Given the description of an element on the screen output the (x, y) to click on. 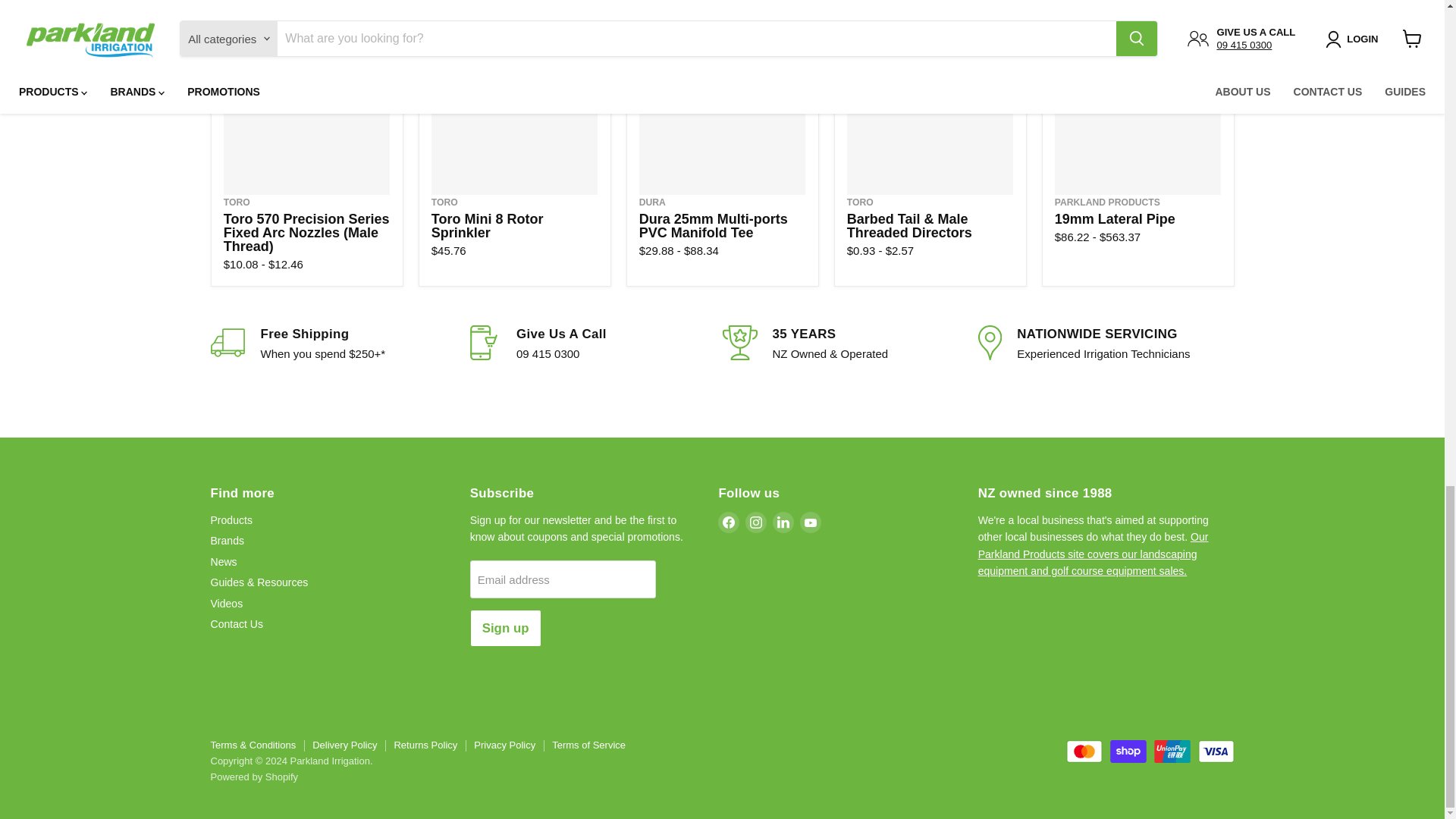
LinkedIn (783, 522)
Union Pay (1172, 751)
Parkland Products (1107, 202)
Toro (237, 202)
Instagram (756, 522)
Dura (652, 202)
Toro (444, 202)
Mastercard (1083, 751)
Toro (860, 202)
YouTube (810, 522)
